Given the description of an element on the screen output the (x, y) to click on. 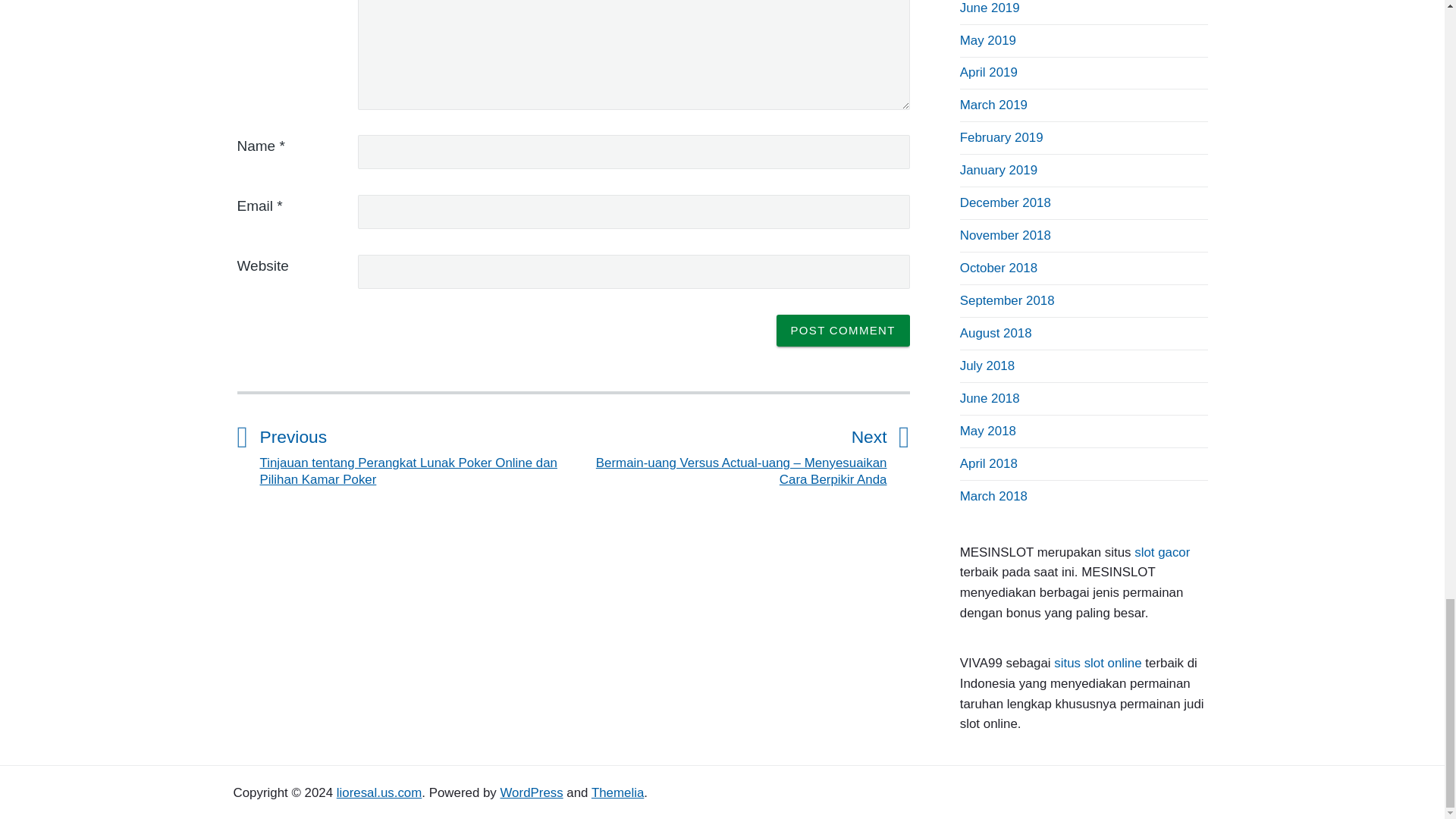
Post Comment (843, 330)
Post Comment (843, 330)
